Given the description of an element on the screen output the (x, y) to click on. 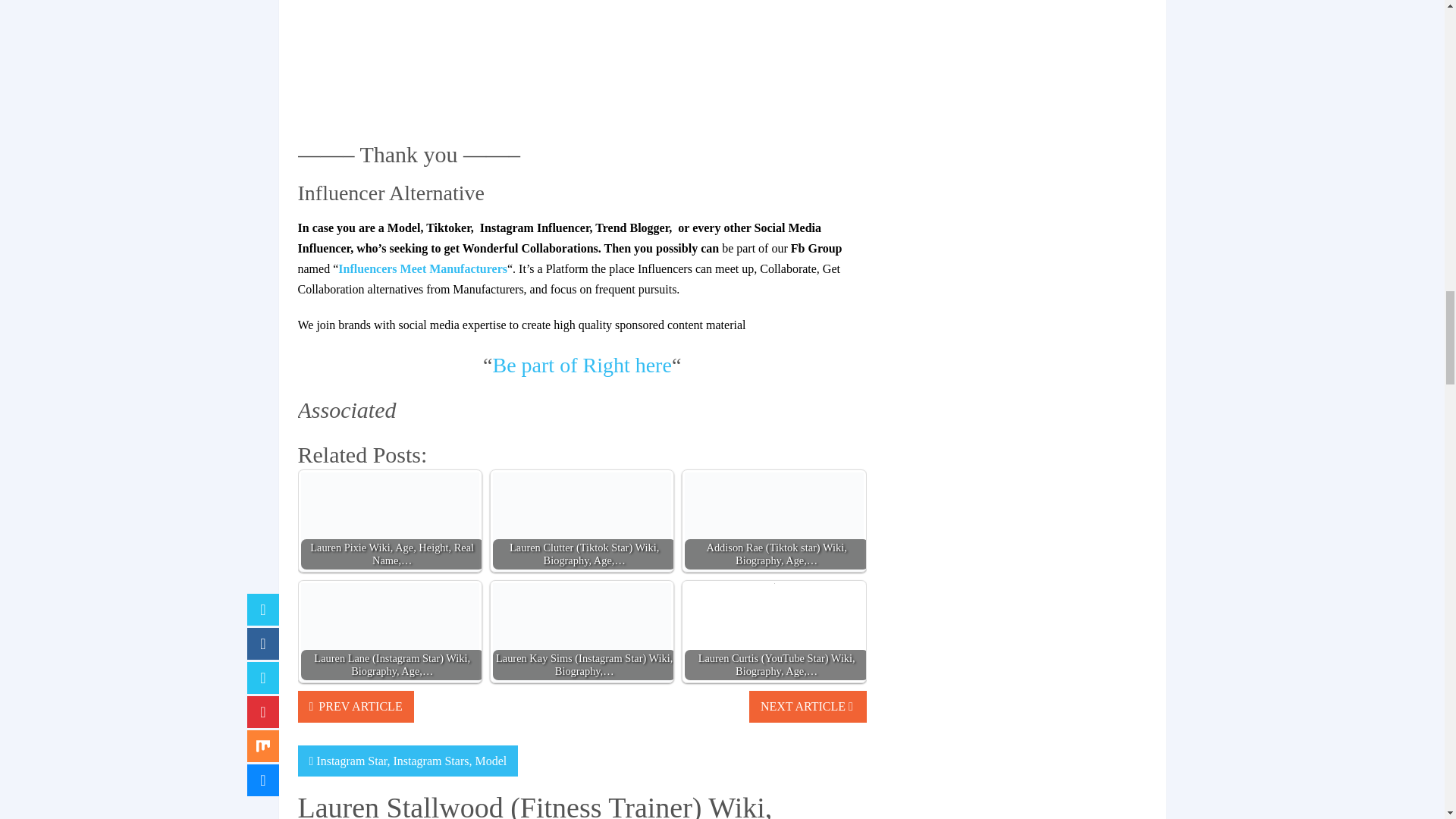
Be part of Right here (582, 364)
Influencers Meet Manufacturers (421, 268)
